Given the description of an element on the screen output the (x, y) to click on. 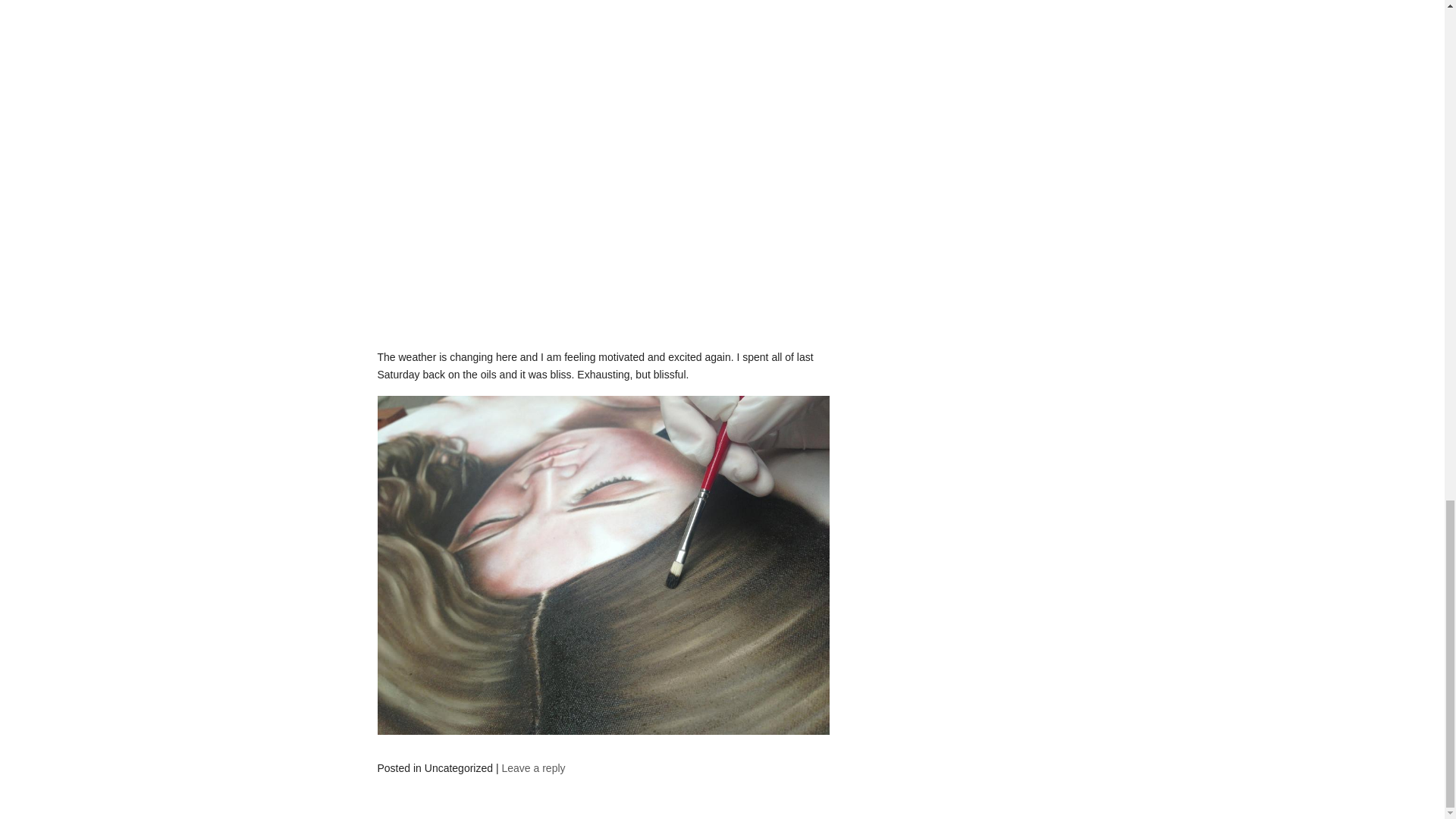
Leave a reply (532, 767)
